Given the description of an element on the screen output the (x, y) to click on. 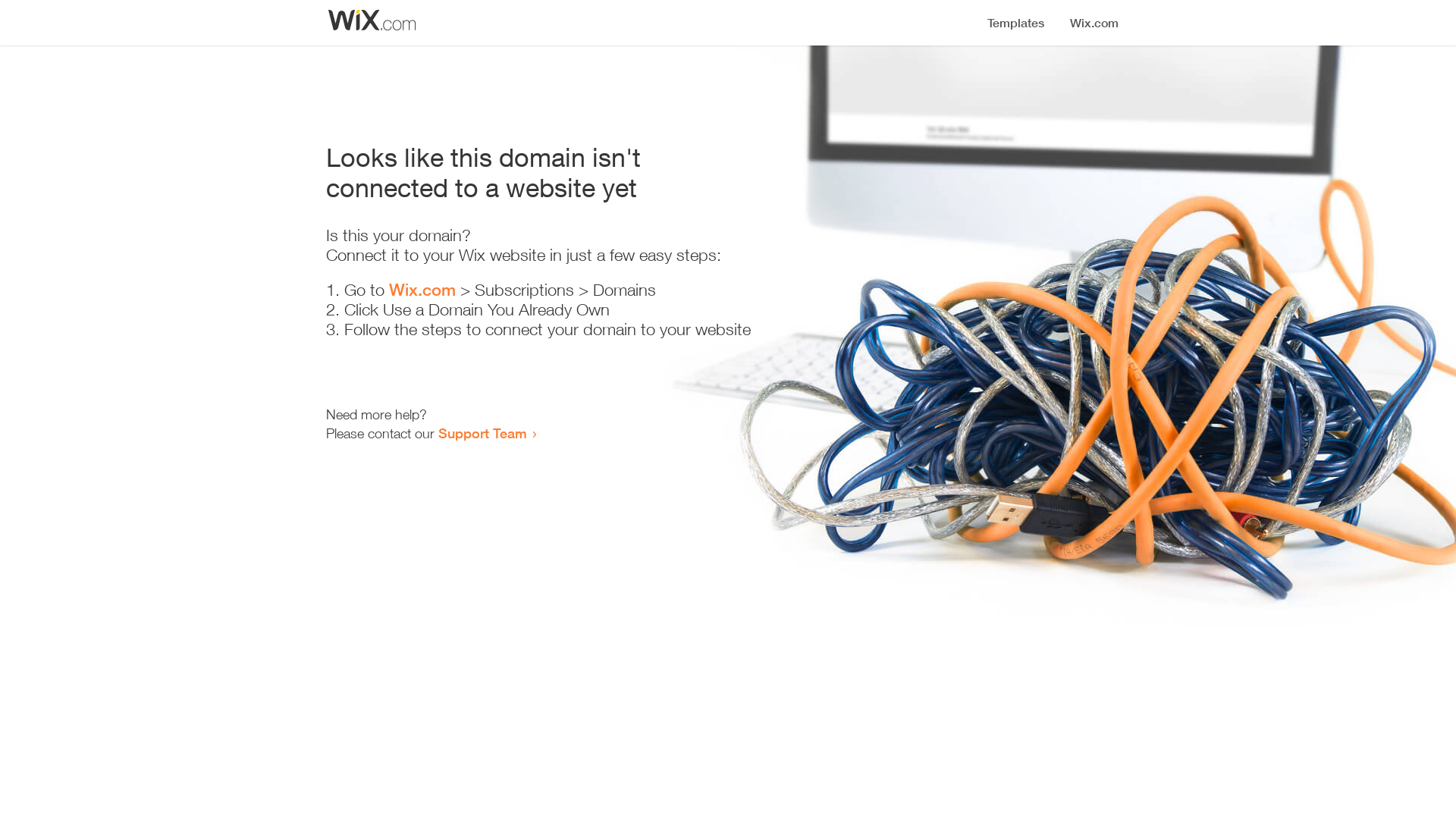
Wix.com Element type: text (422, 289)
Support Team Element type: text (482, 432)
